Given the description of an element on the screen output the (x, y) to click on. 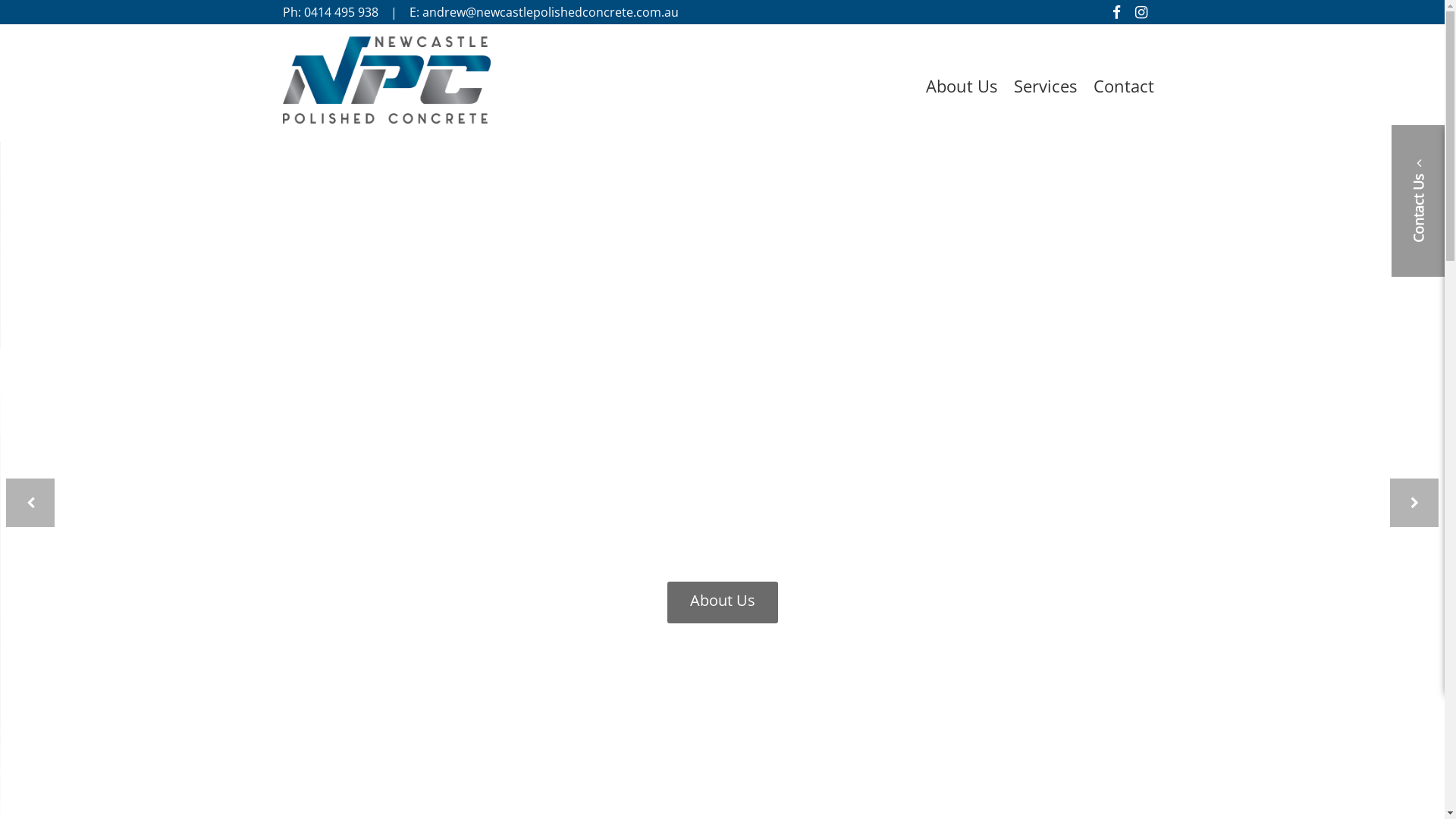
About Us Element type: text (961, 85)
E: andrew@newcastlepolishedconcrete.com.au Element type: text (543, 11)
Like us on Facebook Element type: hover (1116, 11)
Ph: 0414 495 938 Element type: text (329, 11)
Follow us on Instagram Element type: hover (1141, 11)
Contact Element type: text (1122, 85)
Services Element type: text (1045, 85)
About Us Element type: text (722, 602)
